Given the description of an element on the screen output the (x, y) to click on. 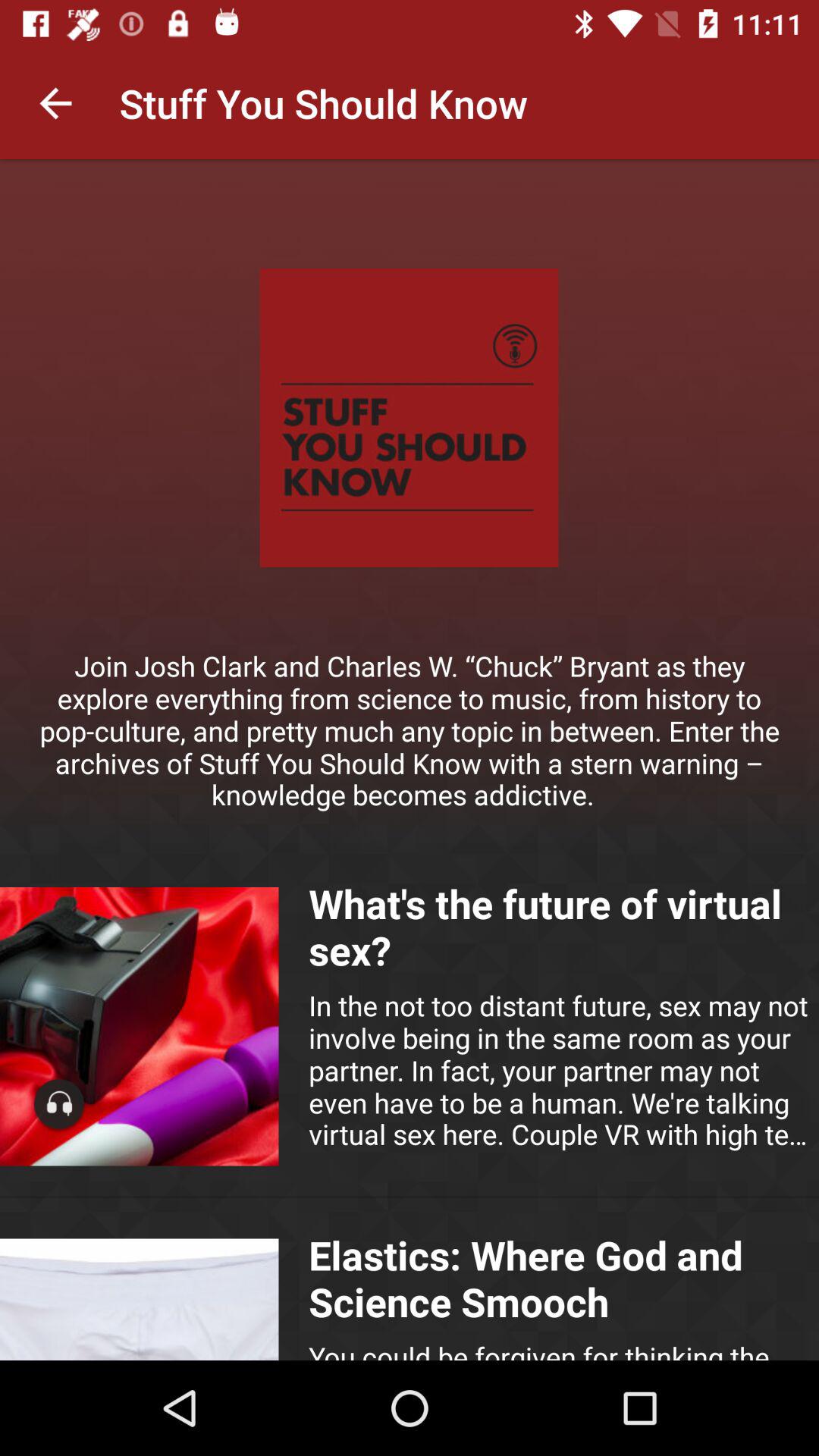
choose icon to the left of the stuff you should icon (55, 103)
